Given the description of an element on the screen output the (x, y) to click on. 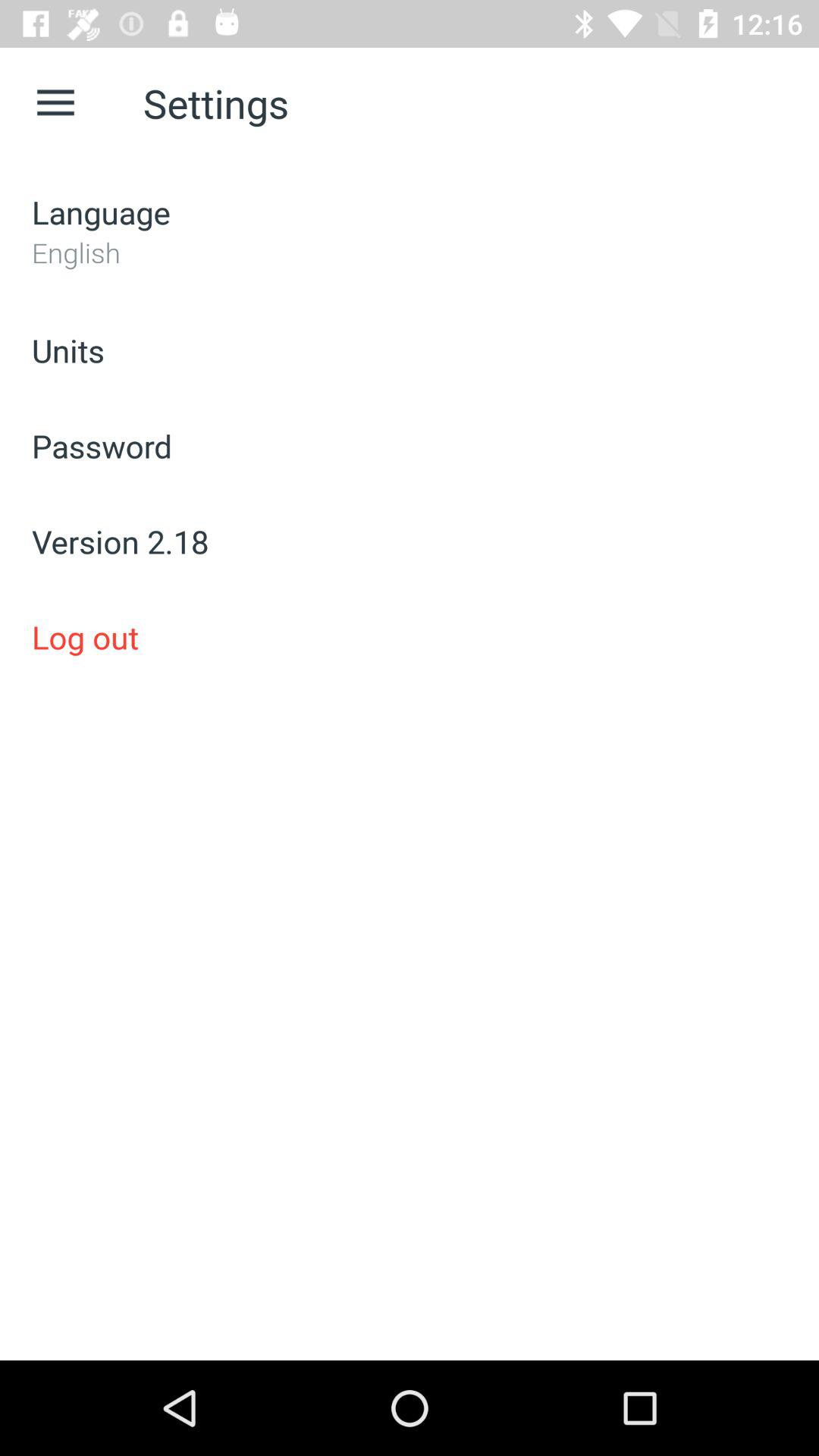
open item above the password (409, 350)
